Given the description of an element on the screen output the (x, y) to click on. 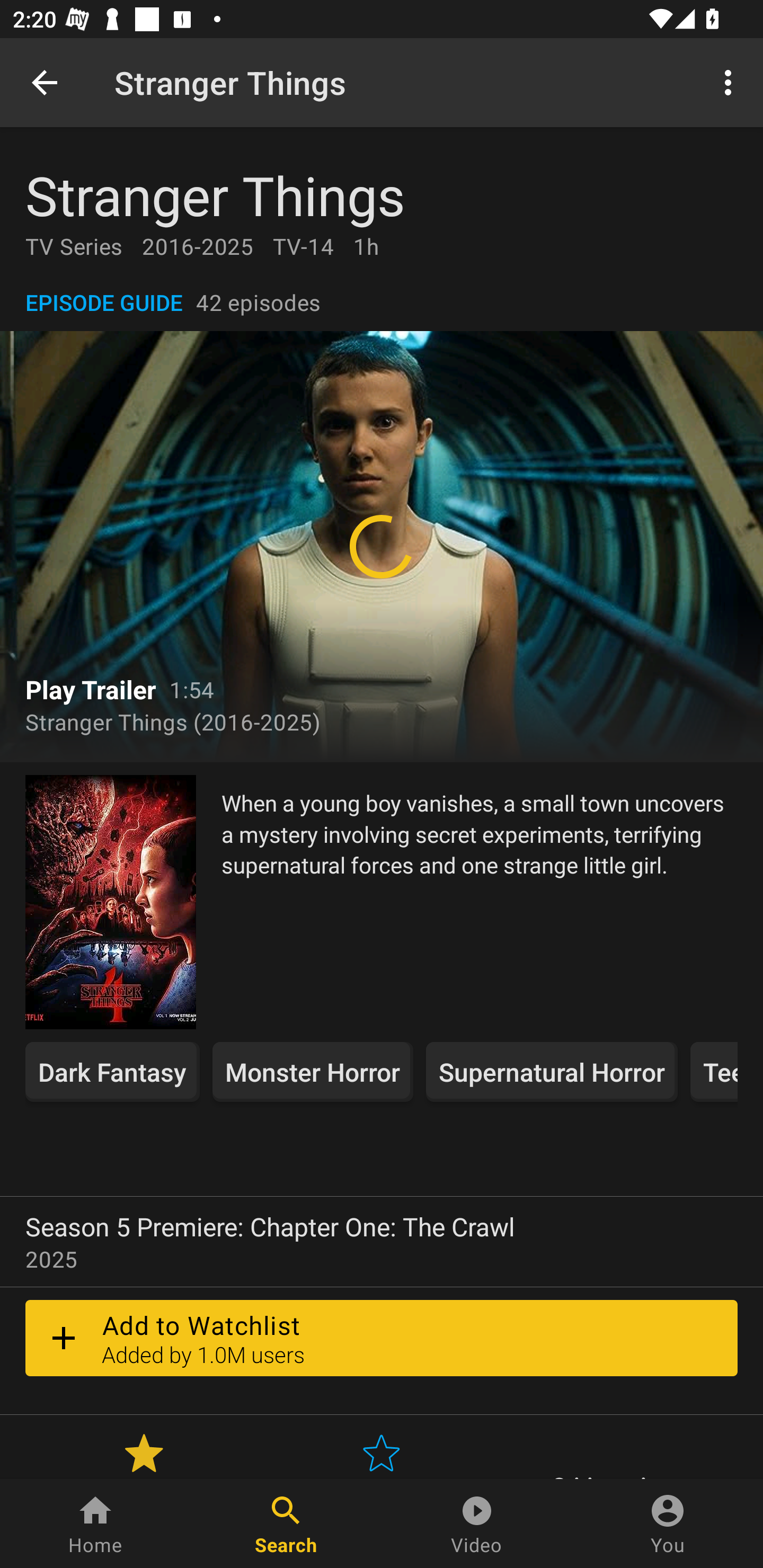
More options (731, 81)
EPISODE GUIDE 42 episodes (381, 302)
Dark Fantasy (112, 1072)
Monster Horror (312, 1072)
Supernatural Horror (551, 1072)
Season 5 Premiere: Chapter One: The Crawl 2025 (381, 1241)
Add to Watchlist Added by 1.0M users (381, 1338)
8.7 (143, 1452)
Rate this (381, 1452)
Home (95, 1523)
Video (476, 1523)
You (667, 1523)
